Given the description of an element on the screen output the (x, y) to click on. 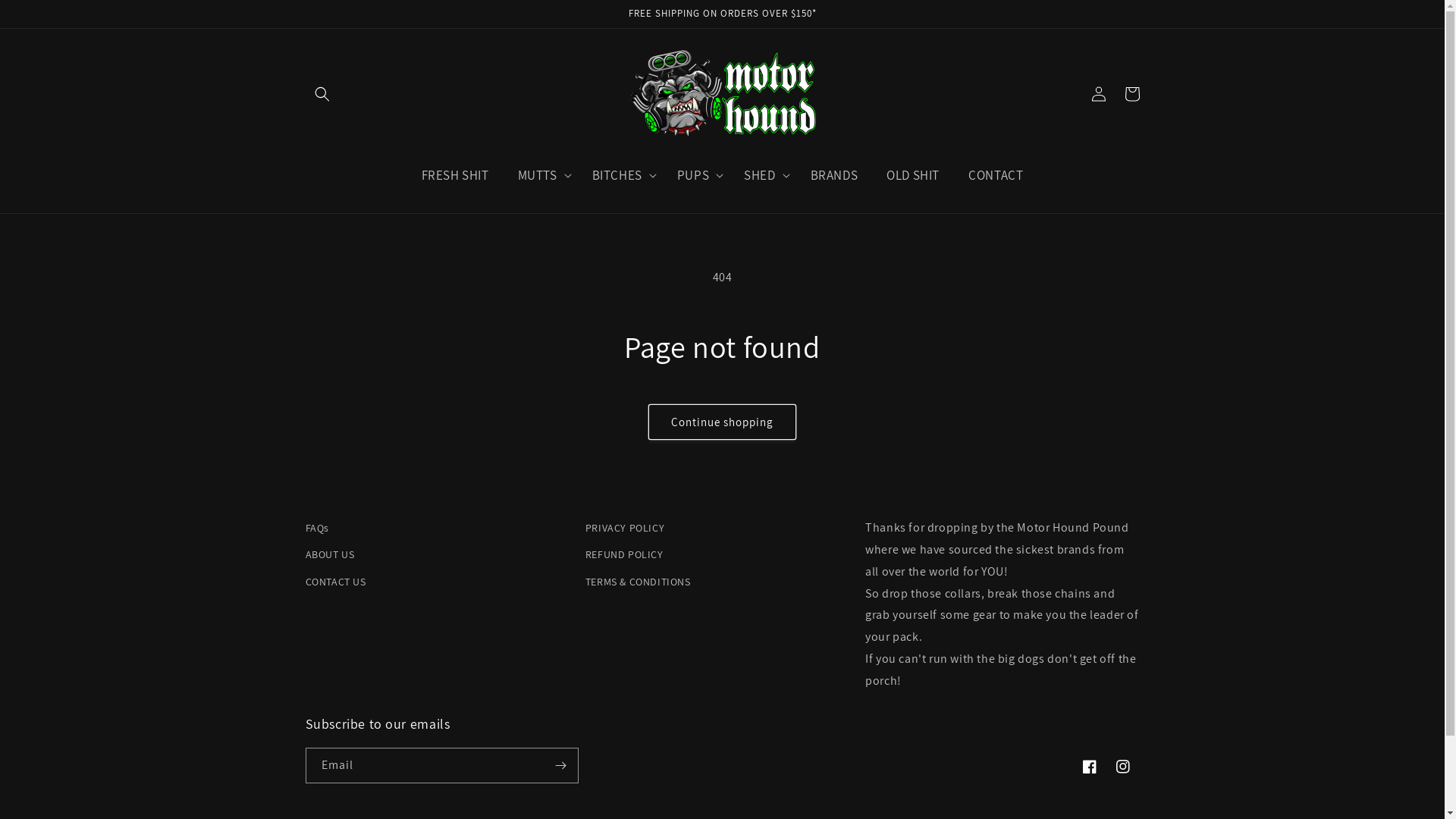
TERMS & CONDITIONS Element type: text (637, 581)
FRESH SHIT Element type: text (455, 174)
FAQs Element type: text (316, 529)
OLD SHIT Element type: text (912, 174)
Log in Element type: text (1097, 93)
Facebook Element type: text (1088, 766)
Continue shopping Element type: text (722, 421)
ABOUT US Element type: text (329, 554)
REFUND POLICY Element type: text (624, 554)
Instagram Element type: text (1122, 766)
CONTACT Element type: text (995, 174)
PRIVACY POLICY Element type: text (624, 529)
CONTACT US Element type: text (334, 581)
Cart Element type: text (1131, 93)
BRANDS Element type: text (834, 174)
